Given the description of an element on the screen output the (x, y) to click on. 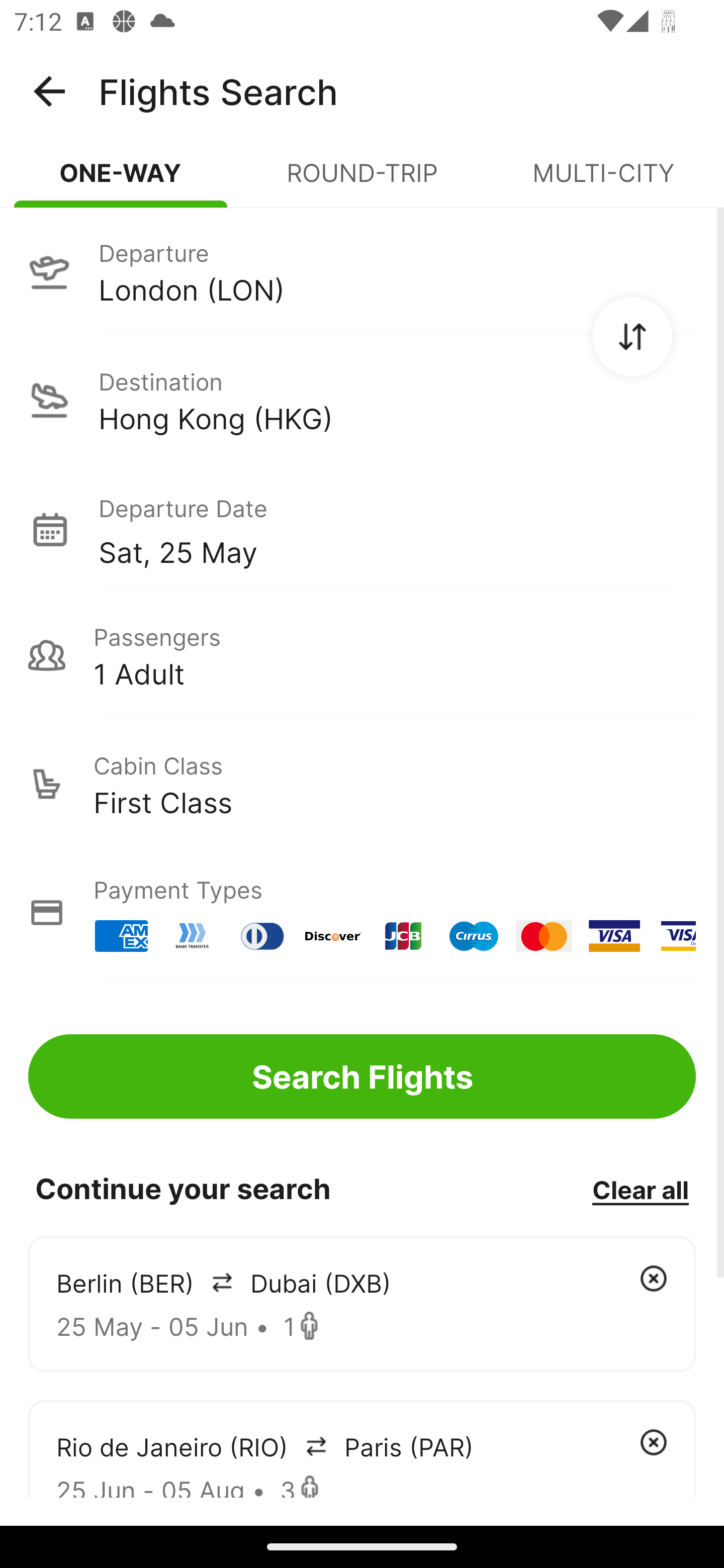
ONE-WAY (120, 180)
ROUND-TRIP (361, 180)
MULTI-CITY (603, 180)
Departure London (LON) (362, 270)
Destination Hong Kong (HKG) (362, 400)
Departure Date Sat, 25 May (396, 528)
Passengers 1 Adult (362, 655)
Cabin Class First Class (362, 783)
Payment Types (362, 912)
Search Flights (361, 1075)
Clear all (640, 1189)
